Given the description of an element on the screen output the (x, y) to click on. 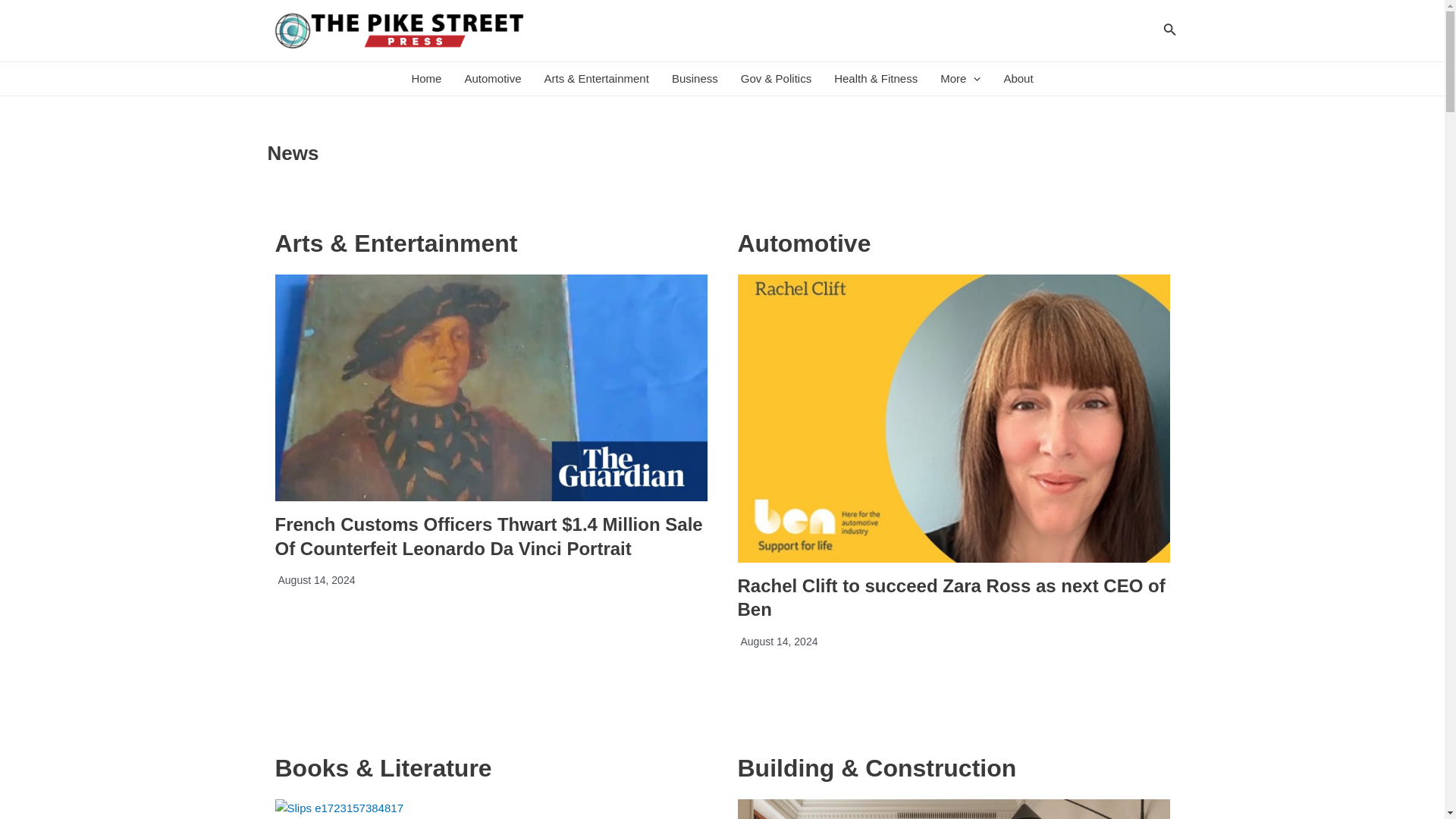
Home (425, 78)
Automotive (492, 78)
About (1017, 78)
Business (695, 78)
More (959, 78)
